Given the description of an element on the screen output the (x, y) to click on. 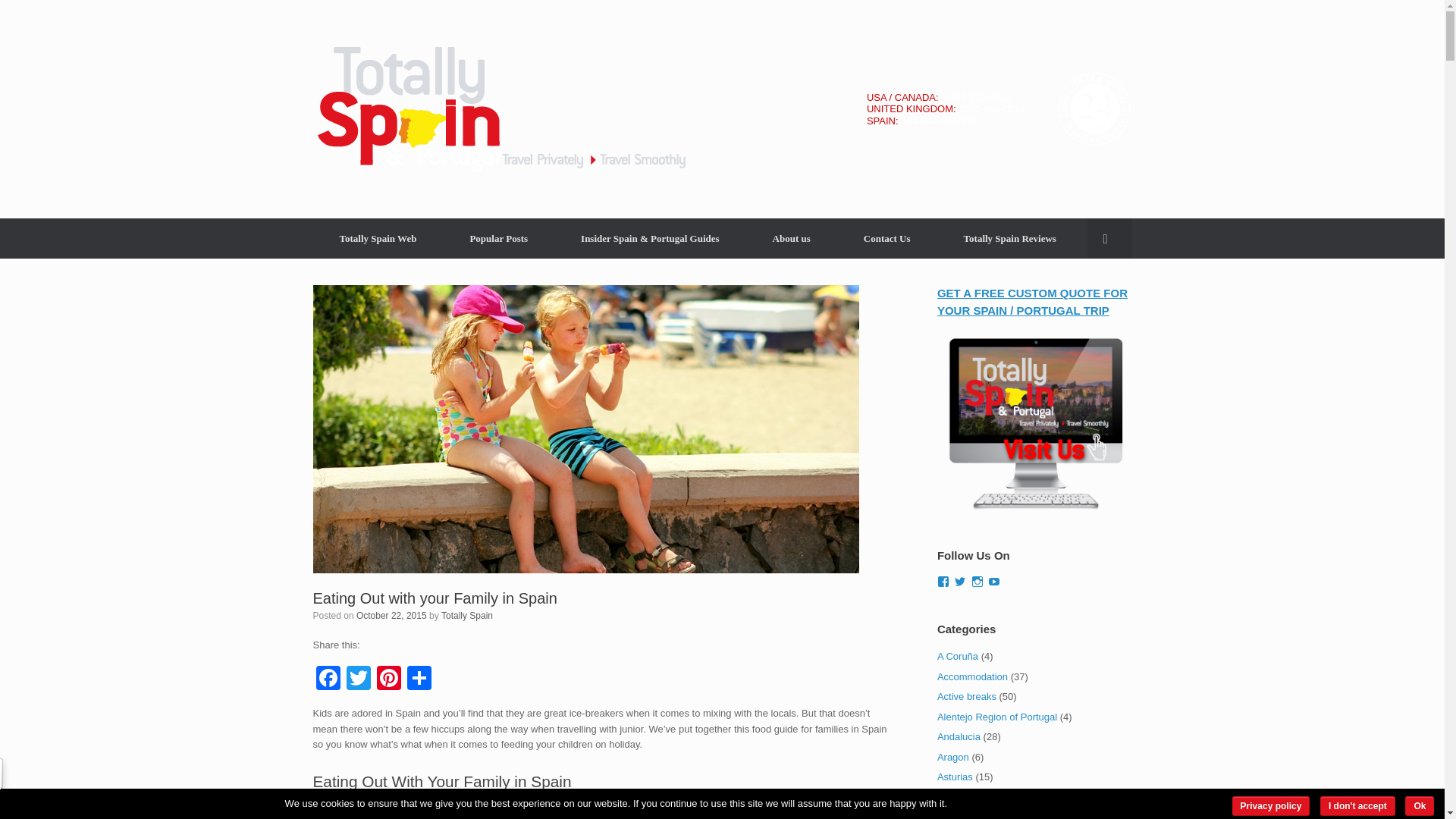
Pinterest (387, 679)
Popular Posts (498, 238)
9:26 am (391, 615)
Facebook (327, 679)
Totally Spain Web (377, 238)
Twitter (357, 679)
Contact Us (887, 238)
Share (418, 679)
Totally Spain (467, 615)
View all posts by Totally Spain (467, 615)
Totally Spain Reviews (1010, 238)
Twitter (357, 679)
About us (791, 238)
Totally Spain Travel Blog (500, 109)
